Given the description of an element on the screen output the (x, y) to click on. 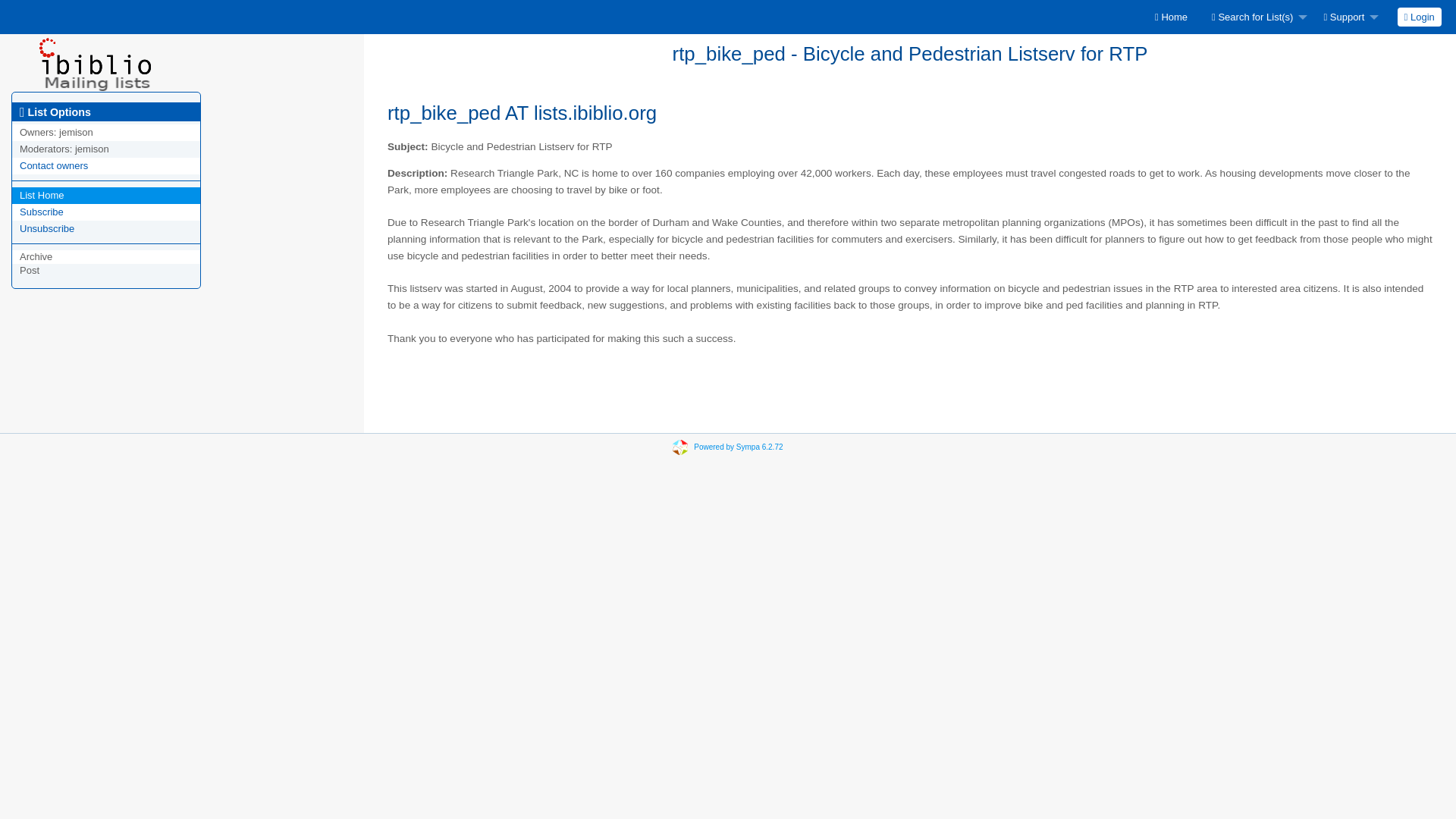
Unsubscribe (47, 228)
Contact owners (53, 165)
List Home (42, 194)
Subscribe (42, 211)
Login (1419, 16)
Home (1170, 17)
Support (1346, 17)
Powered by Sympa 6.2.72 (738, 447)
